Given the description of an element on the screen output the (x, y) to click on. 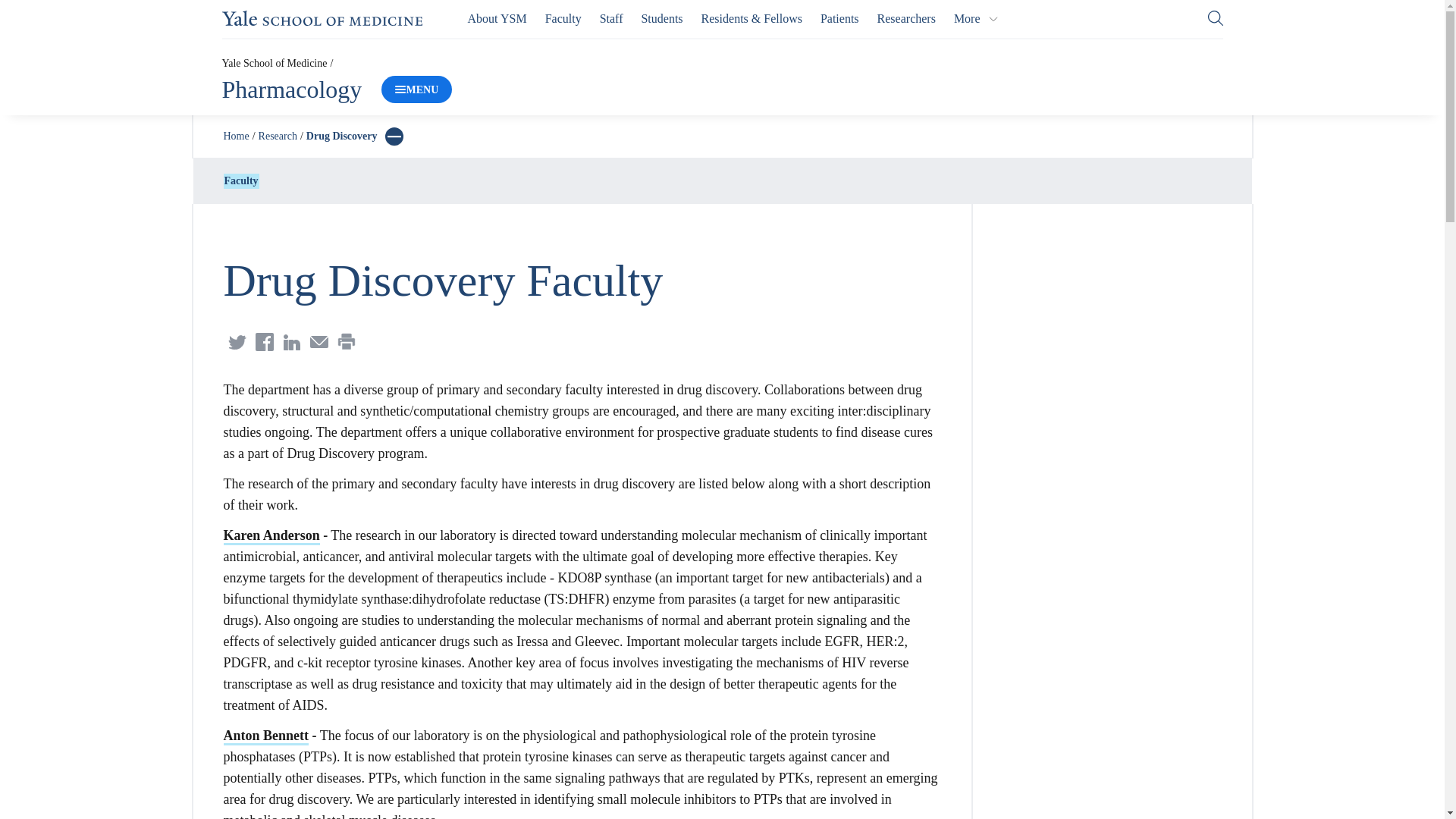
More (975, 18)
Researchers (906, 18)
Yale School of Medicine (273, 62)
Yale School of Medicine (321, 17)
MENU (416, 89)
Yale School of Medicine (321, 18)
Pharmacology (291, 89)
About YSM (497, 18)
Staff (611, 18)
Patients (840, 18)
Students (661, 18)
Faculty (562, 18)
